Given the description of an element on the screen output the (x, y) to click on. 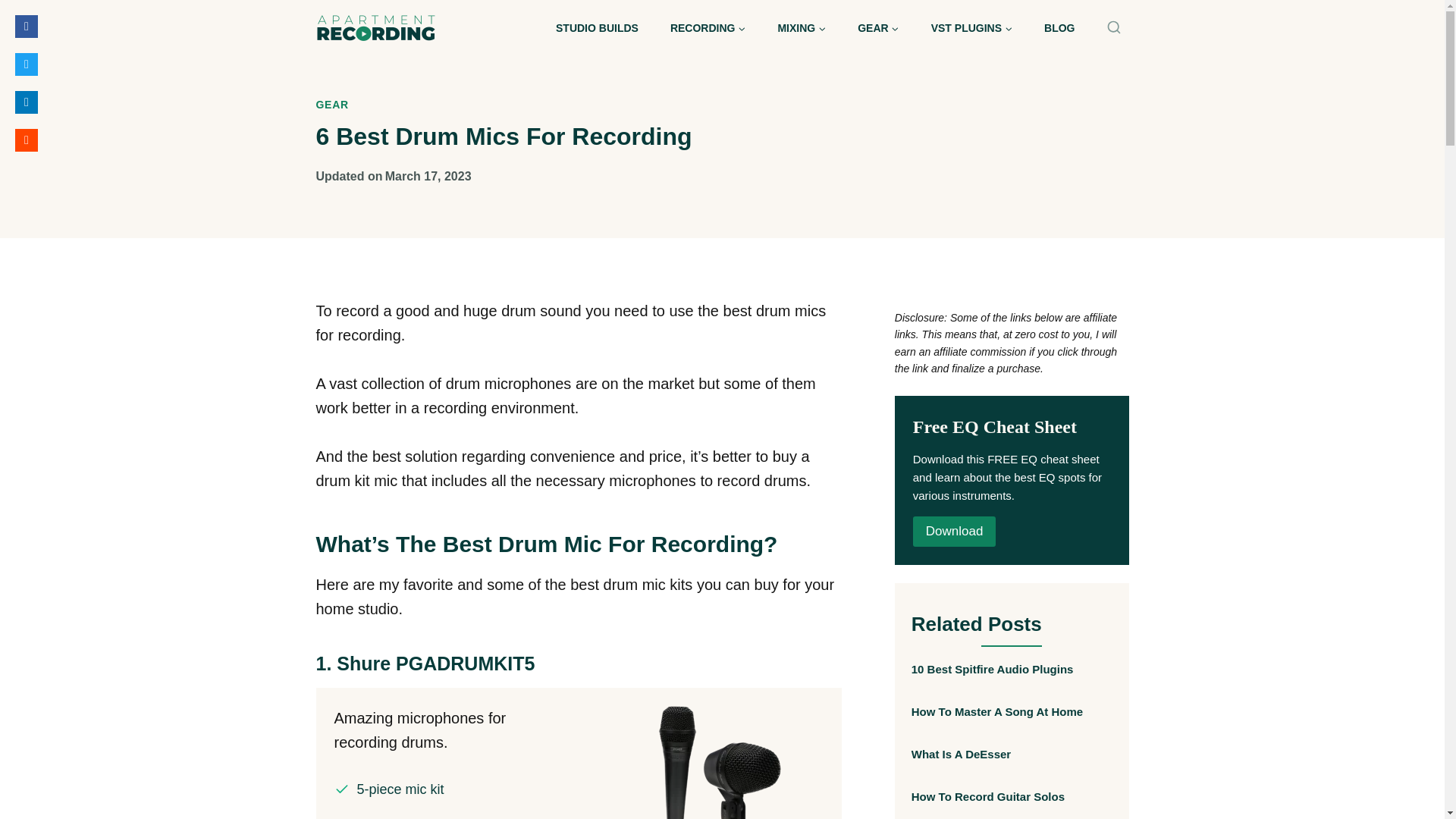
MIXING (801, 27)
STUDIO BUILDS (596, 27)
VST PLUGINS (971, 27)
BLOG (1058, 27)
RECORDING (707, 27)
GEAR (877, 27)
